Given the description of an element on the screen output the (x, y) to click on. 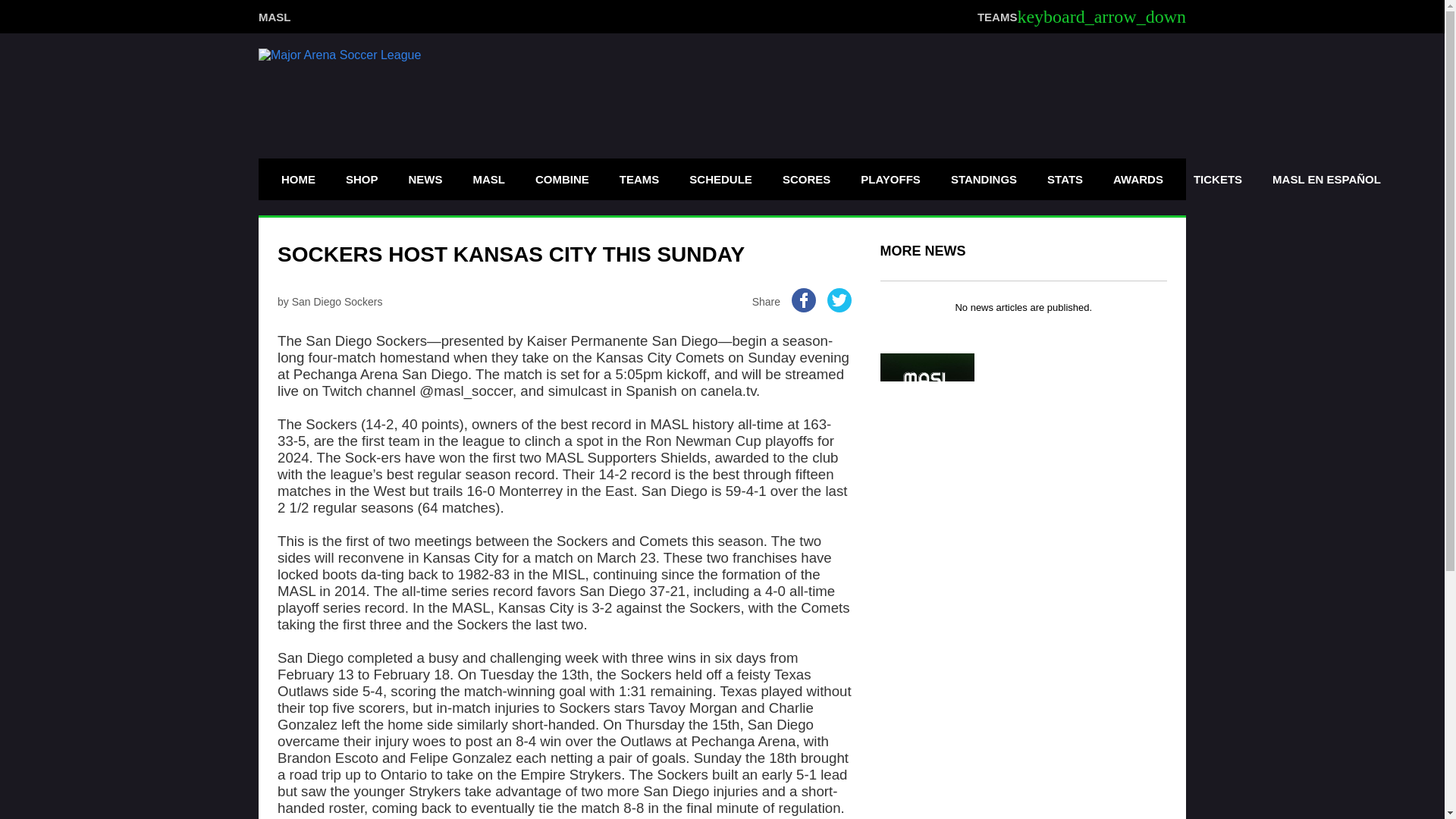
MASL (275, 16)
SCHEDULE (720, 178)
SCORES (806, 178)
SHOP (362, 178)
COMBINE (561, 178)
PLAYOFFS (889, 178)
STANDINGS (983, 178)
TEAMS (639, 178)
HOME (297, 178)
